Given the description of an element on the screen output the (x, y) to click on. 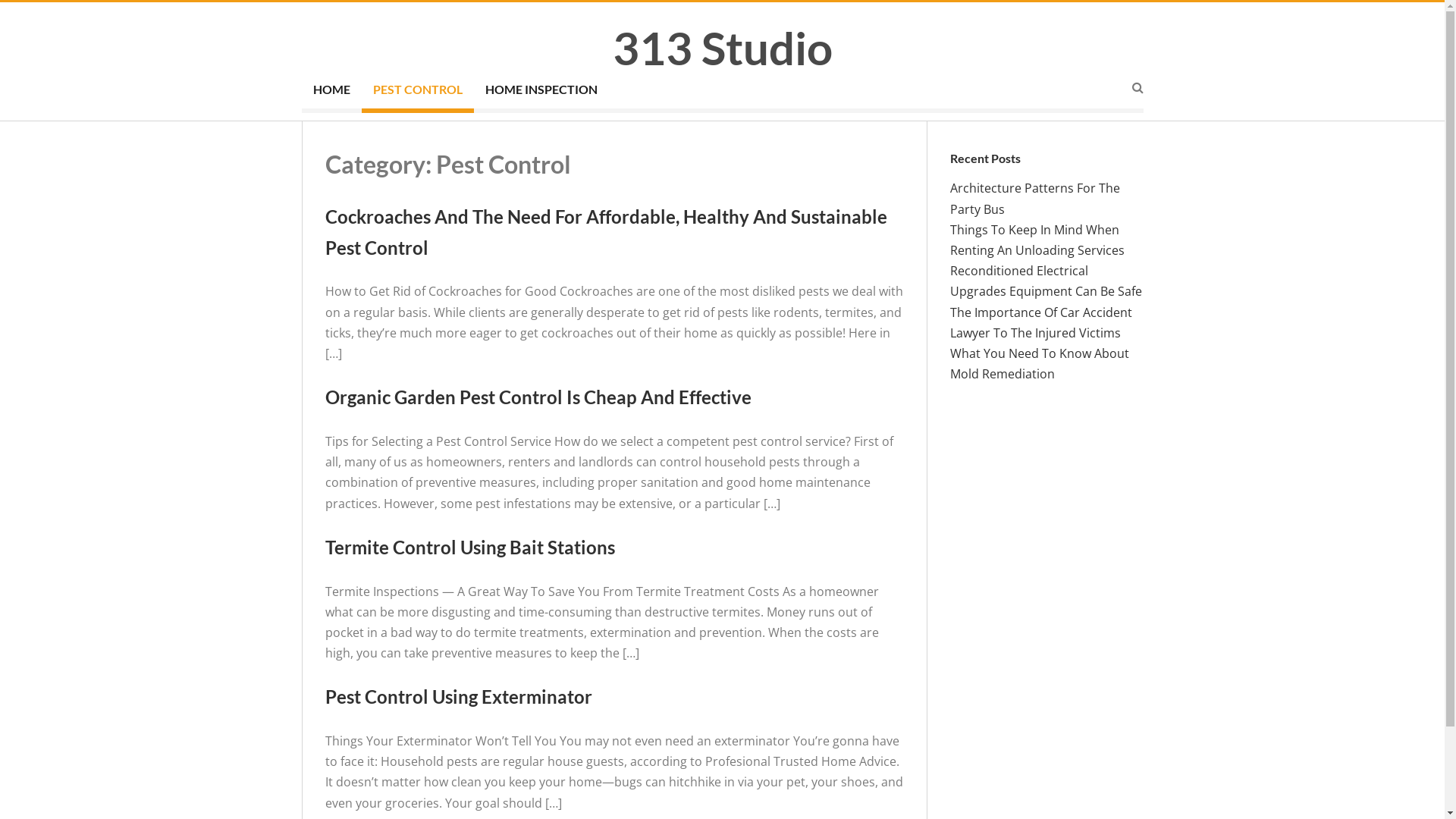
HOME Element type: text (331, 91)
Pest Control Using Exterminator Element type: text (457, 696)
What You Need To Know About Mold Remediation Element type: text (1038, 363)
Organic Garden Pest Control Is Cheap And Effective Element type: text (537, 396)
313 Studio Element type: text (722, 47)
Architecture Patterns For The Party Bus Element type: text (1034, 197)
Reconditioned Electrical Upgrades Equipment Can Be Safe Element type: text (1045, 280)
Search Element type: text (797, 432)
Termite Control Using Bait Stations Element type: text (469, 547)
The Importance Of Car Accident Lawyer To The Injured Victims Element type: text (1040, 322)
Things To Keep In Mind When Renting An Unloading Services Element type: text (1036, 239)
HOME INSPECTION Element type: text (540, 91)
PEST CONTROL Element type: text (416, 91)
